Given the description of an element on the screen output the (x, y) to click on. 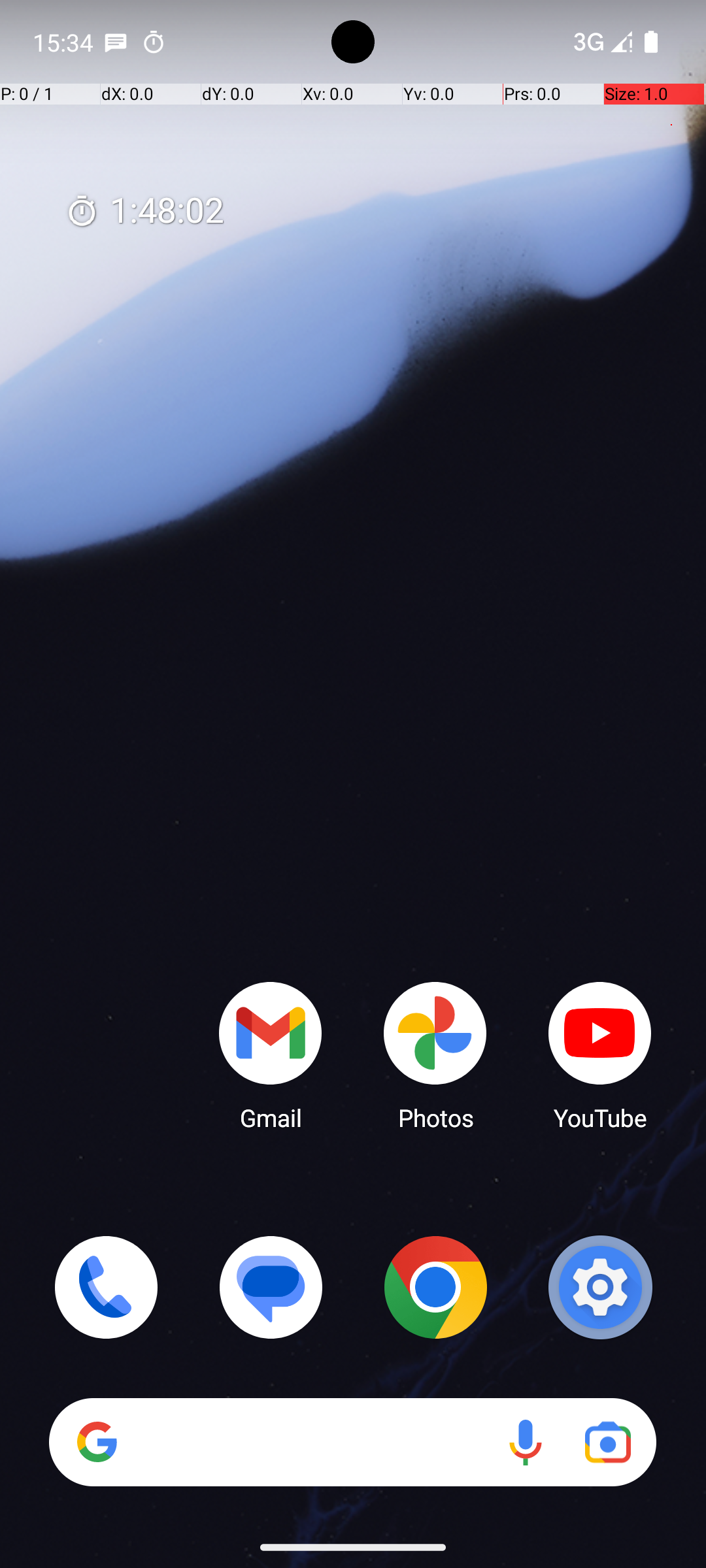
1:48:02 Element type: android.widget.TextView (144, 210)
